Given the description of an element on the screen output the (x, y) to click on. 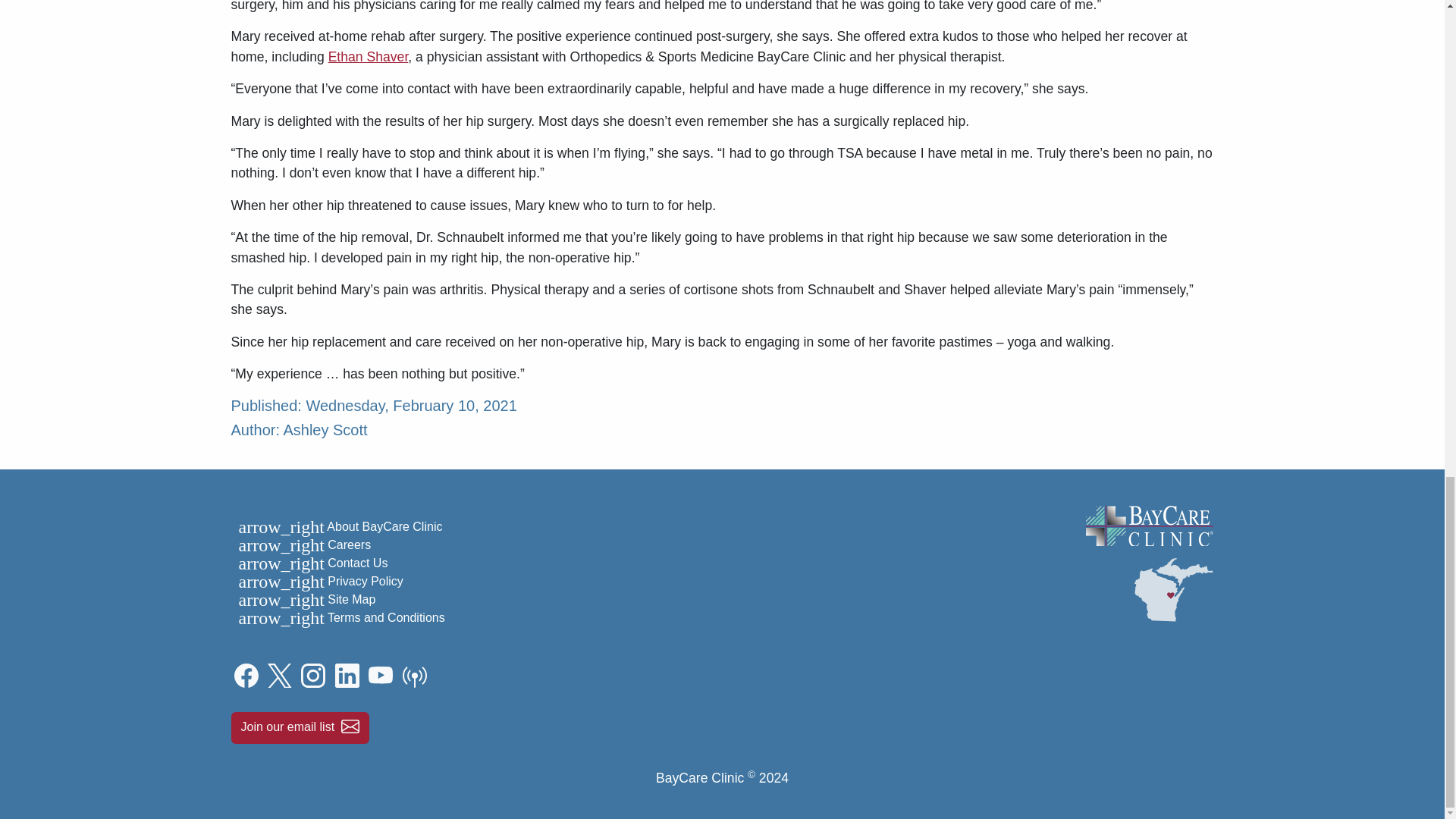
Site Map (349, 599)
Privacy Policy (363, 581)
Terms and Conditions (384, 617)
About BayCare Clinic (383, 526)
Contact Us (356, 562)
Ethan Shaver (369, 56)
Ethan Shaver, PA-C (369, 56)
Careers (347, 544)
